Given the description of an element on the screen output the (x, y) to click on. 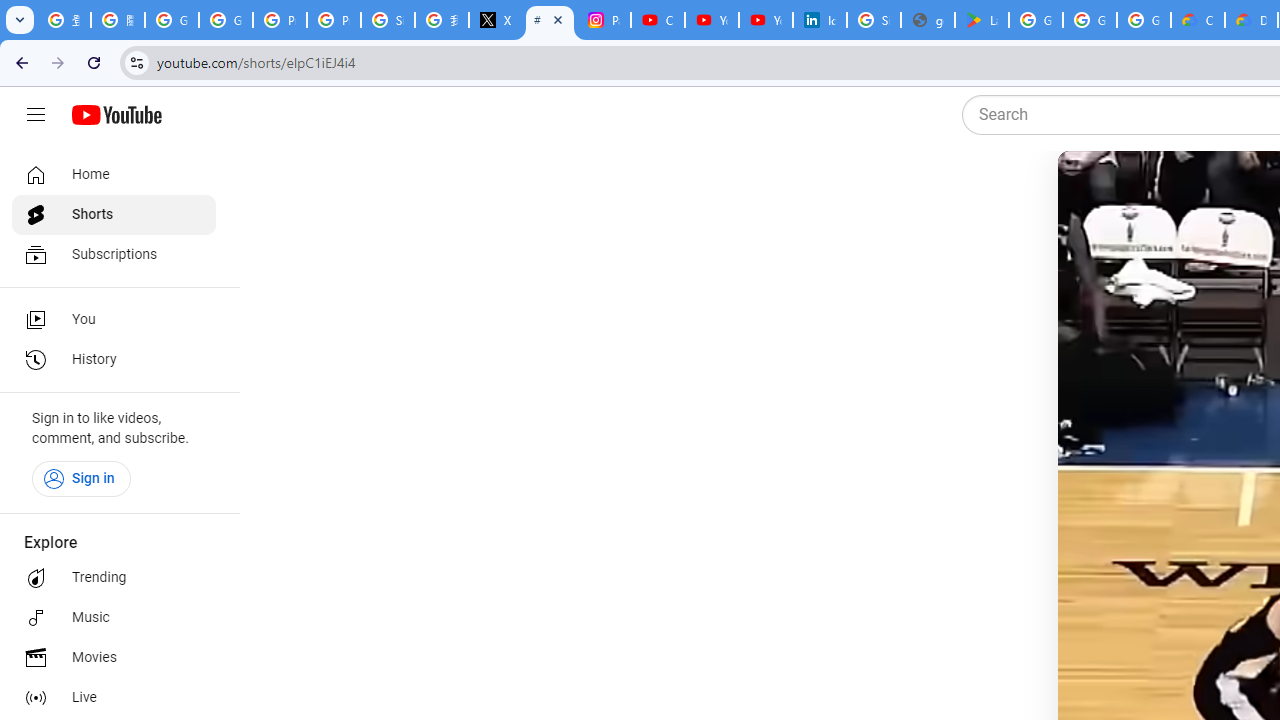
#nbabasketballhighlights - YouTube - Audio playing (550, 20)
Guide (35, 115)
YouTube Culture & Trends - YouTube Top 10, 2021 (765, 20)
Google Workspace - Specific Terms (1144, 20)
Pause (k) (1097, 191)
Sign in - Google Accounts (387, 20)
Music (113, 617)
